Given the description of an element on the screen output the (x, y) to click on. 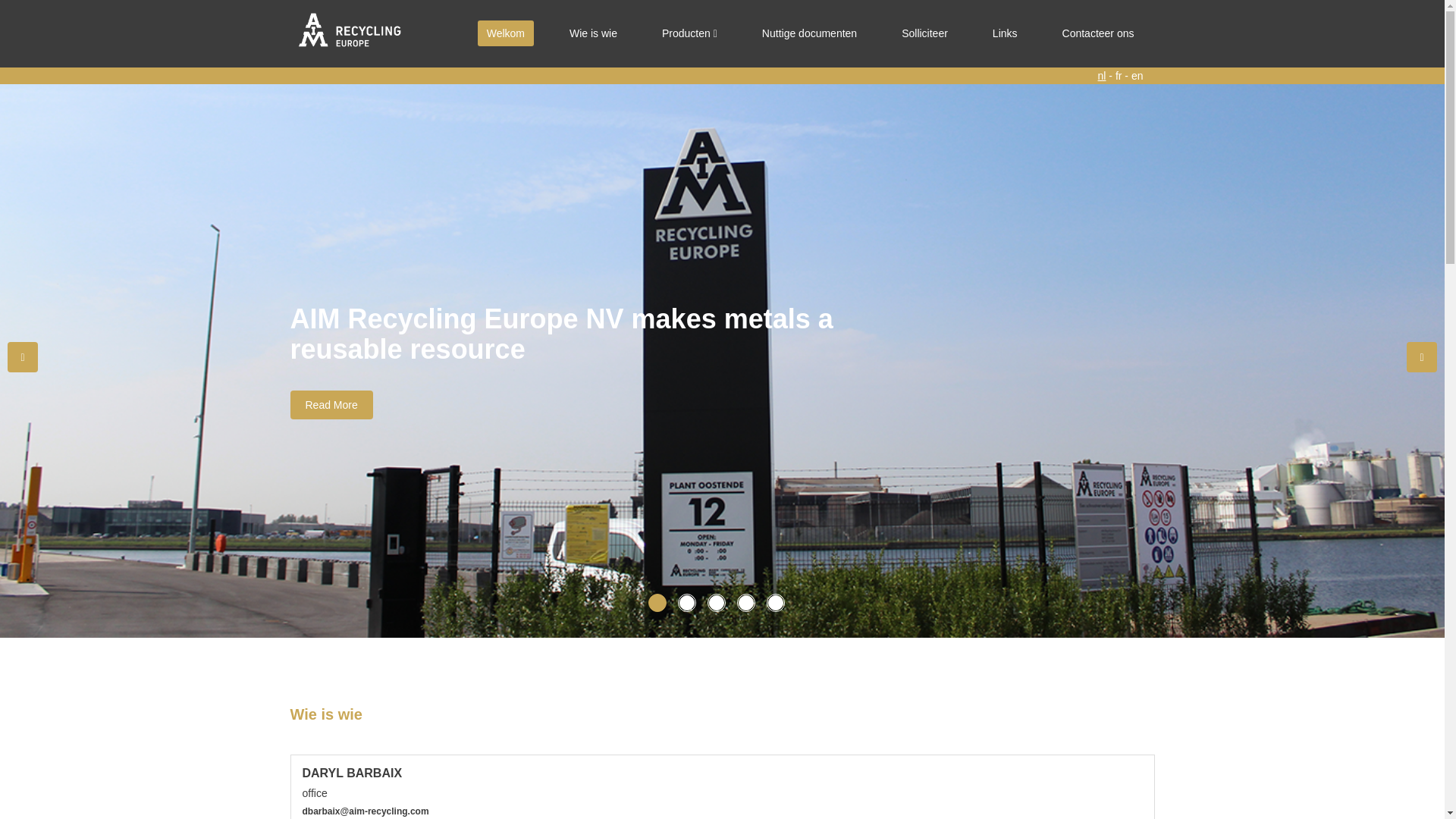
Welkom Element type: text (505, 33)
Wie is wie Element type: text (593, 33)
fr Element type: text (1118, 75)
Nuttige documenten Element type: text (809, 33)
nl Element type: text (1102, 75)
Links Element type: text (1004, 33)
en Element type: text (1137, 75)
Producten Element type: text (689, 33)
Contacteer ons Element type: text (1098, 33)
Read More Element type: text (330, 404)
Solliciteer Element type: text (924, 33)
